Given the description of an element on the screen output the (x, y) to click on. 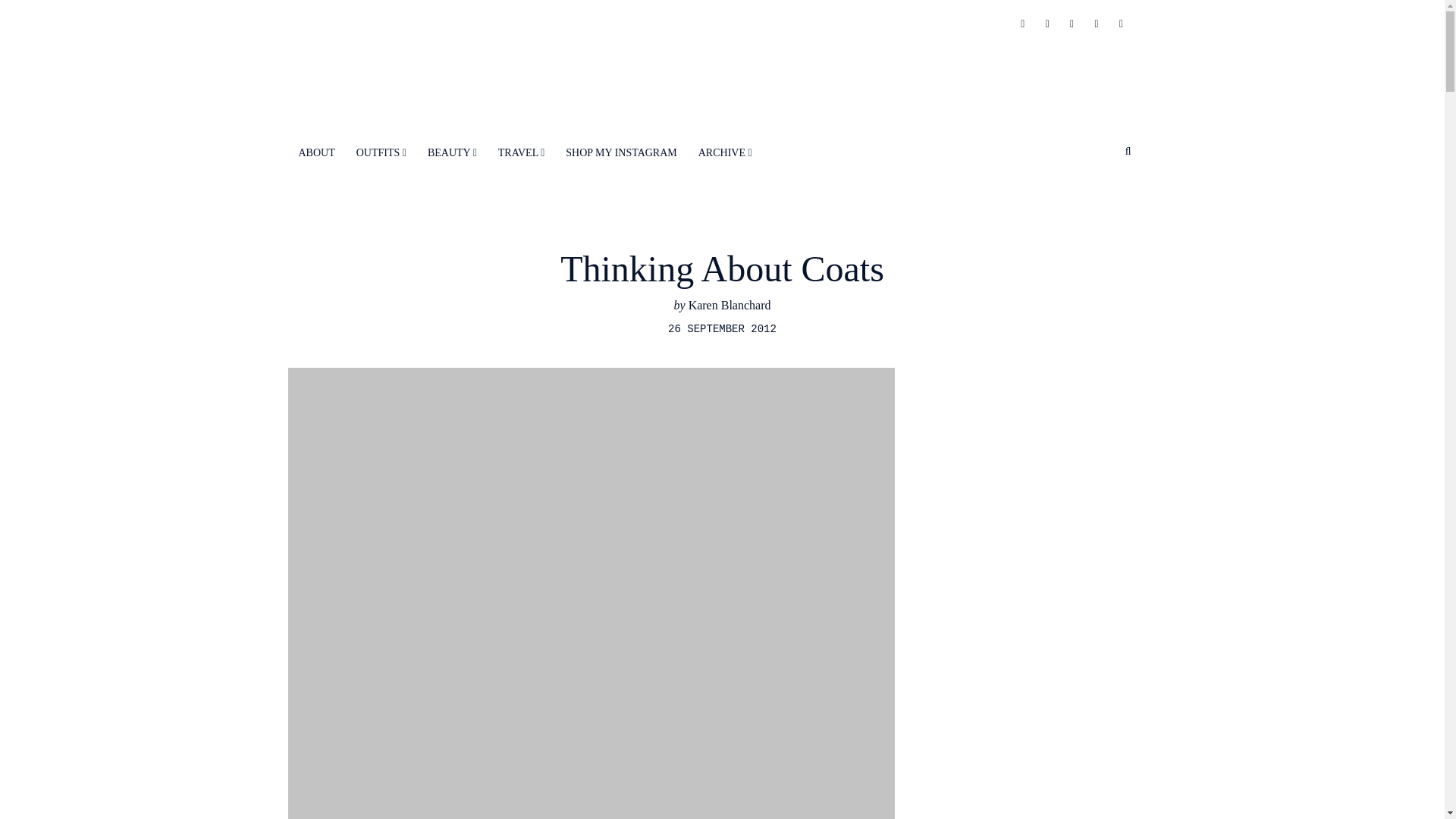
ABOUT (317, 152)
TRAVEL (521, 152)
OUTFITS (381, 152)
ARCHIVE (724, 152)
Where Did U Get That (721, 65)
BEAUTY (451, 152)
SHOP MY INSTAGRAM (620, 152)
